Given the description of an element on the screen output the (x, y) to click on. 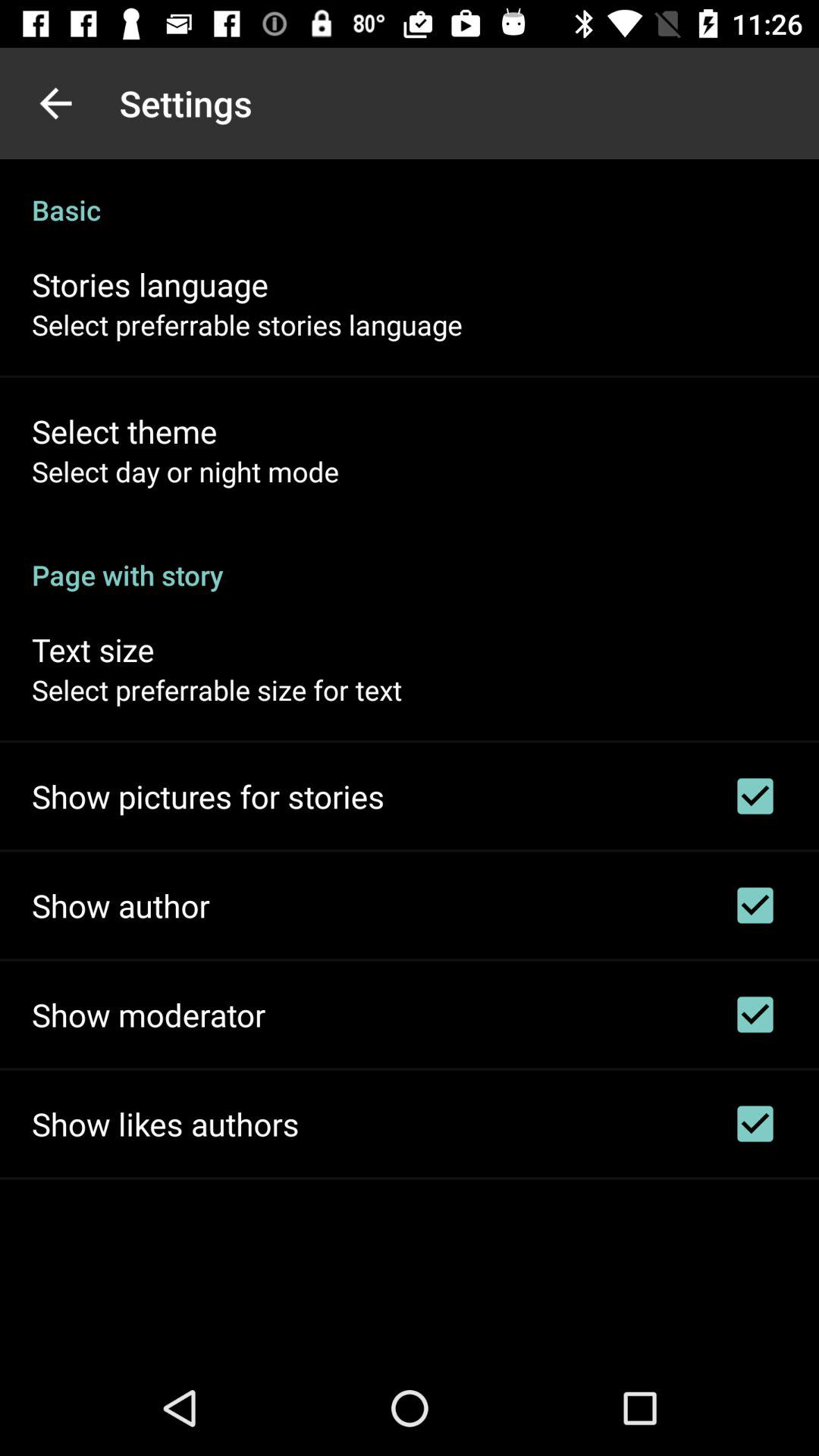
swipe to the page with story (409, 558)
